Given the description of an element on the screen output the (x, y) to click on. 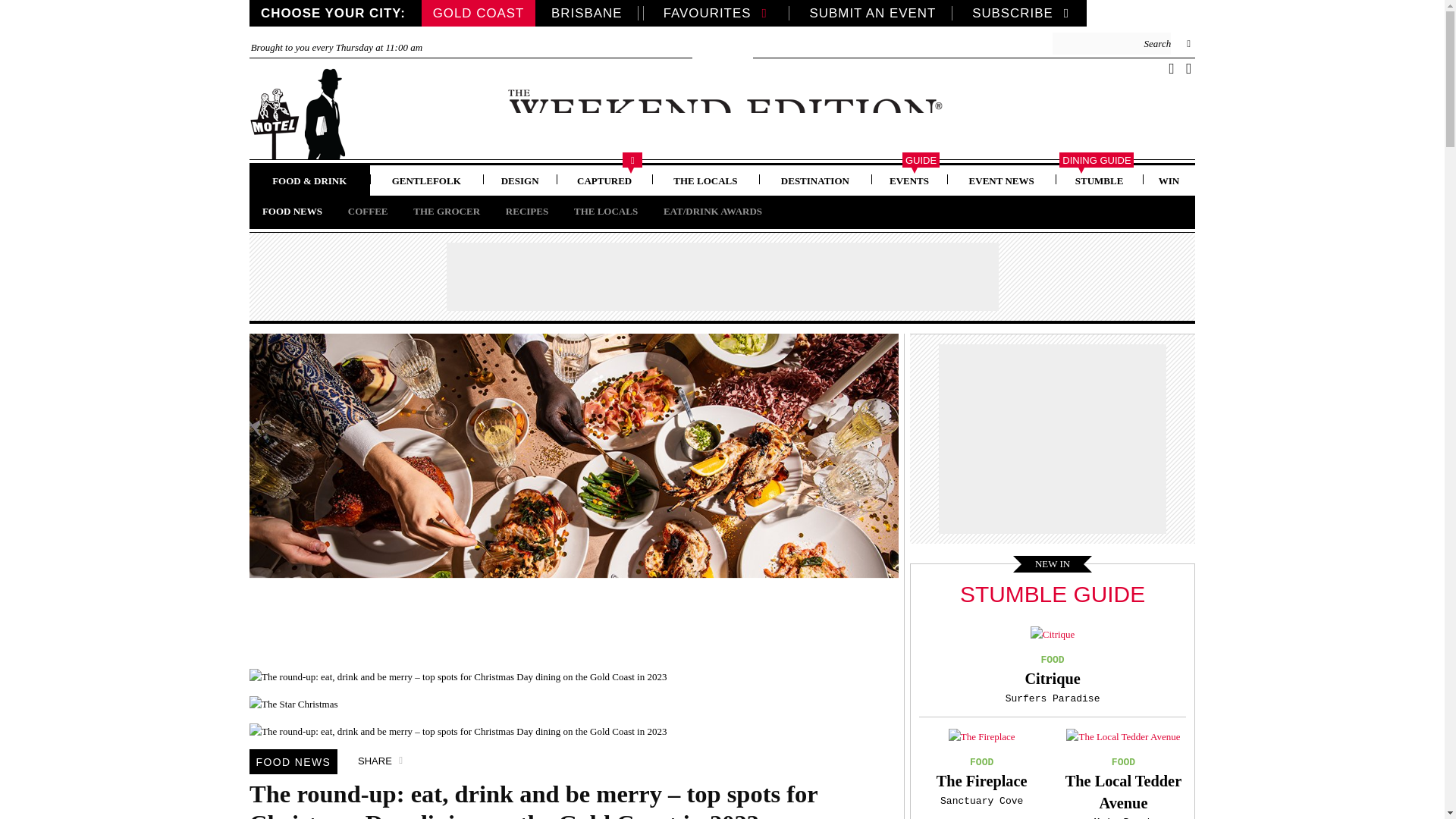
Captured (604, 180)
FOOD NEWS (292, 761)
DESIGN (519, 180)
SHARE (382, 761)
WIN (1168, 180)
Recipes (526, 210)
Stumble (1099, 180)
The Locals (605, 210)
EVENTS (909, 180)
CAPTURED (604, 180)
